Given the description of an element on the screen output the (x, y) to click on. 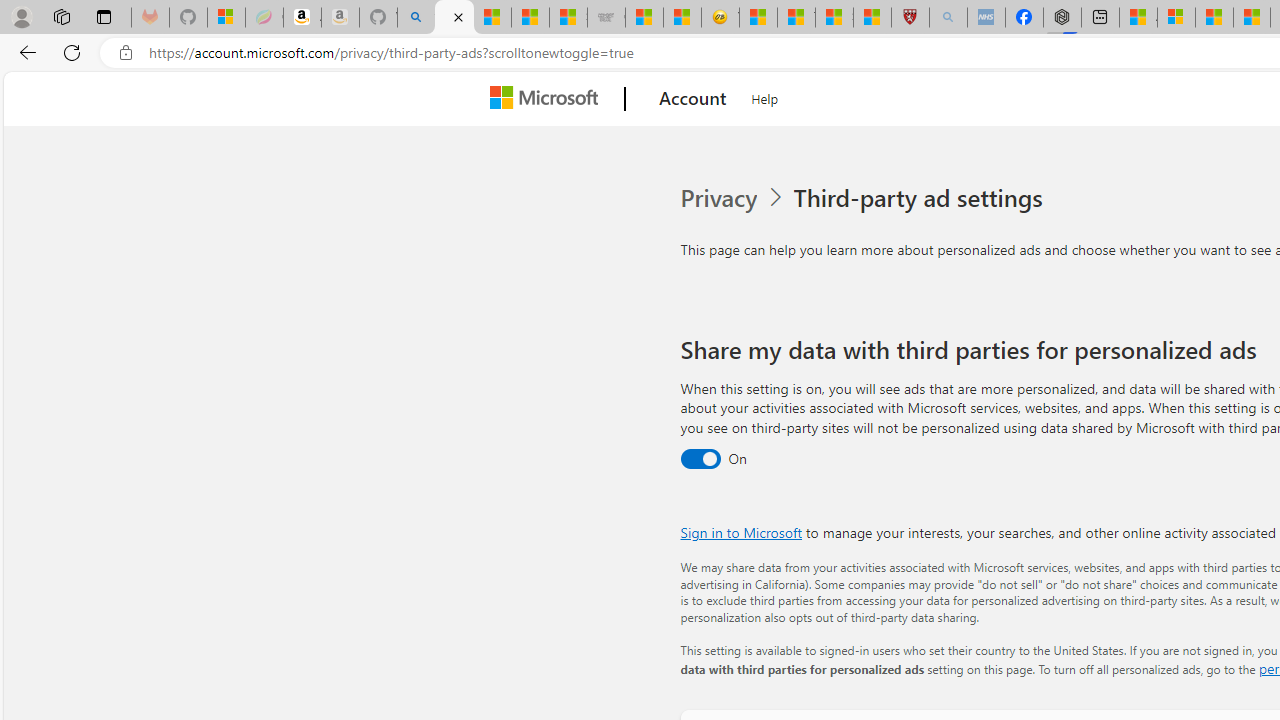
list of asthma inhalers uk - Search - Sleeping (948, 17)
Third-party ad settings (922, 197)
12 Popular Science Lies that Must be Corrected (871, 17)
Combat Siege (605, 17)
Science - MSN (833, 17)
